Given the description of an element on the screen output the (x, y) to click on. 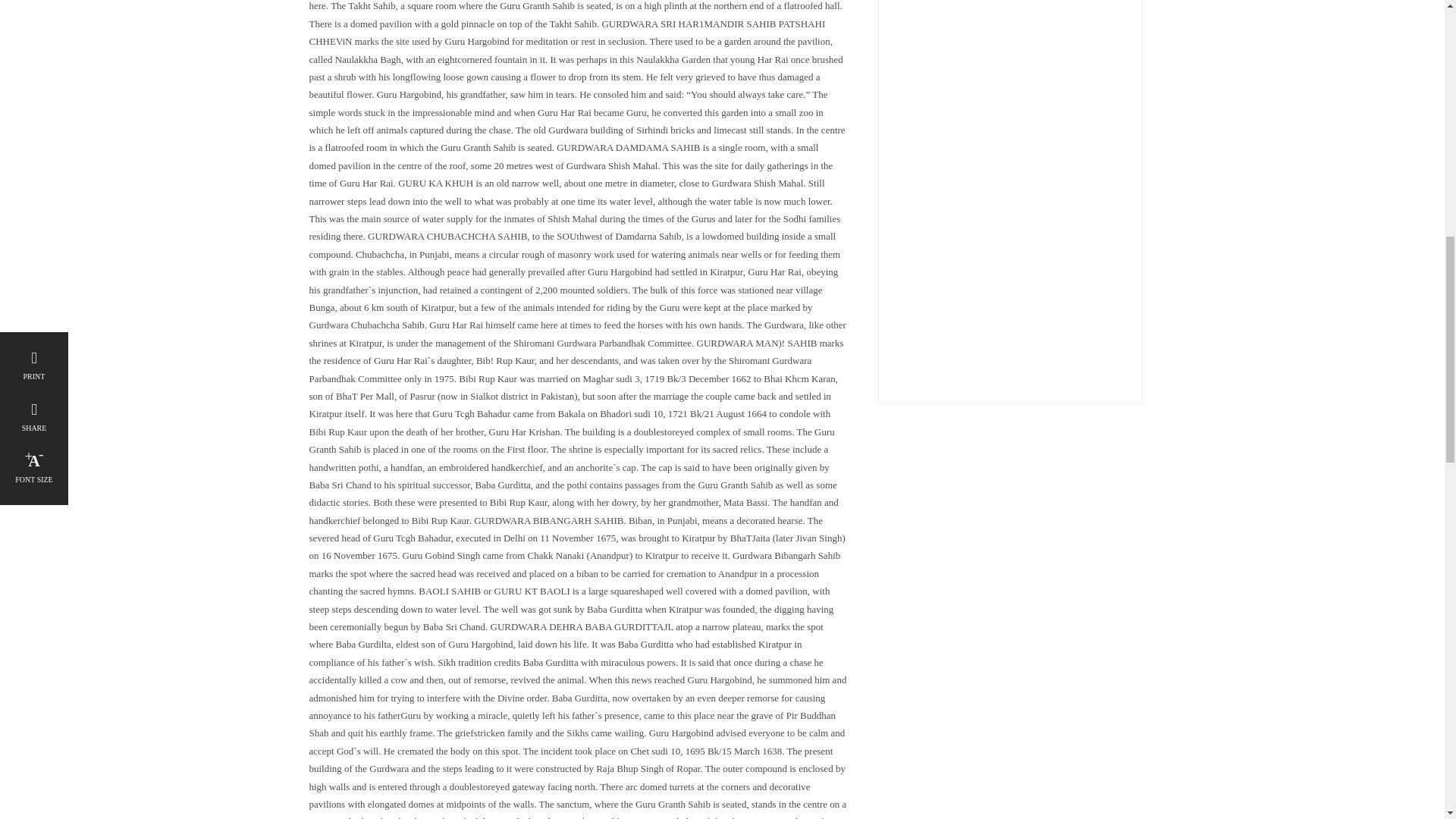
Advertisement (1010, 190)
